Given the description of an element on the screen output the (x, y) to click on. 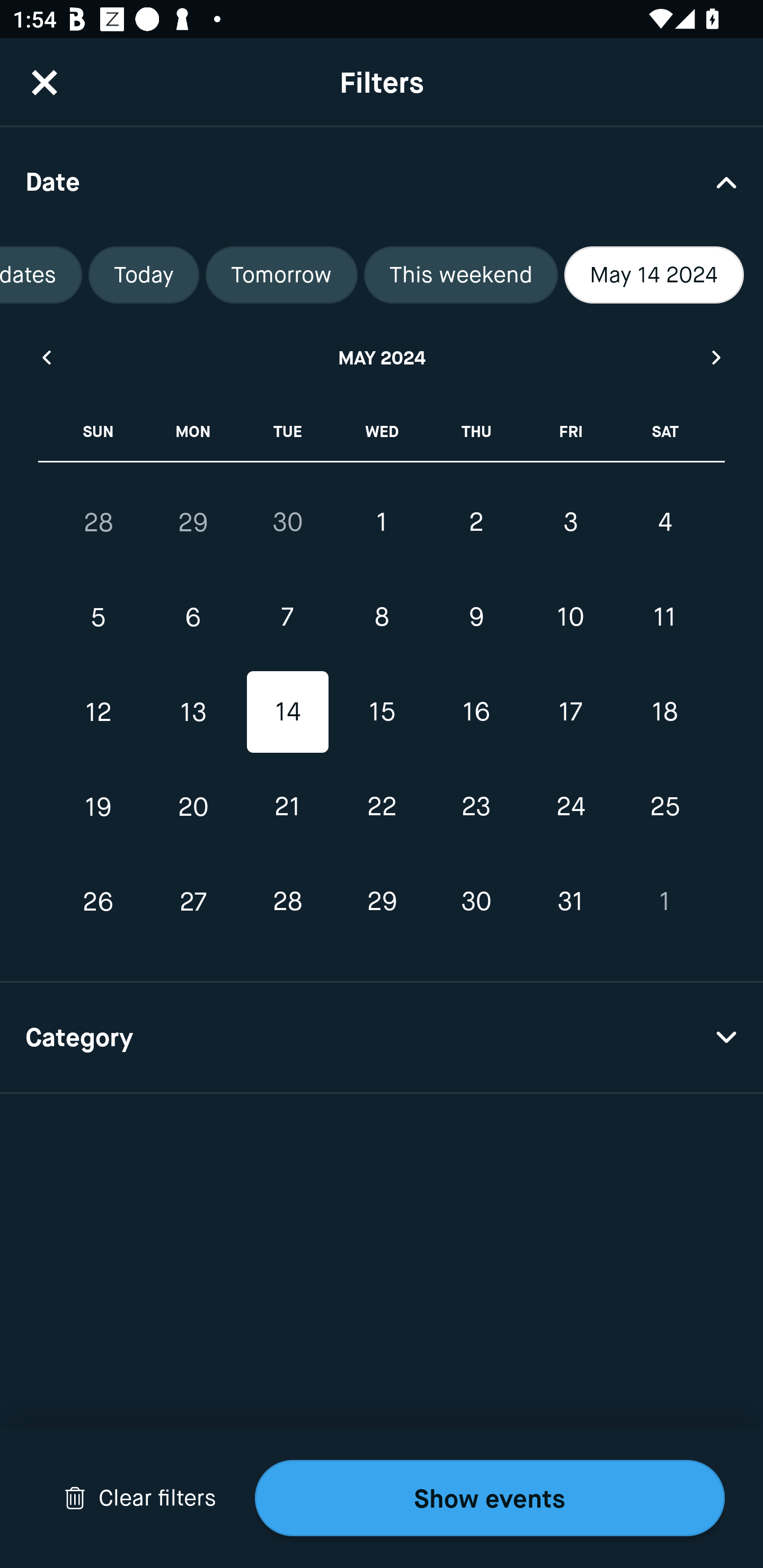
CloseButton (44, 82)
Date Drop Down Arrow (381, 181)
Today (143, 274)
Tomorrow (281, 274)
This weekend (460, 274)
May 14 2024 (653, 274)
Previous (45, 357)
Next (717, 357)
28 (98, 522)
29 (192, 522)
30 (287, 522)
1 (381, 522)
2 (475, 522)
3 (570, 522)
4 (664, 522)
5 (98, 617)
6 (192, 617)
7 (287, 617)
8 (381, 617)
9 (475, 617)
10 (570, 617)
11 (664, 617)
12 (98, 711)
13 (192, 711)
14 (287, 711)
15 (381, 711)
16 (475, 711)
17 (570, 711)
18 (664, 711)
19 (98, 806)
20 (192, 806)
21 (287, 806)
22 (381, 806)
23 (475, 806)
24 (570, 806)
25 (664, 806)
26 (98, 901)
27 (192, 901)
28 (287, 901)
29 (381, 901)
30 (475, 901)
31 (570, 901)
1 (664, 901)
Category Drop Down Arrow (381, 1038)
Drop Down Arrow Clear filters (139, 1497)
Show events (489, 1497)
